Given the description of an element on the screen output the (x, y) to click on. 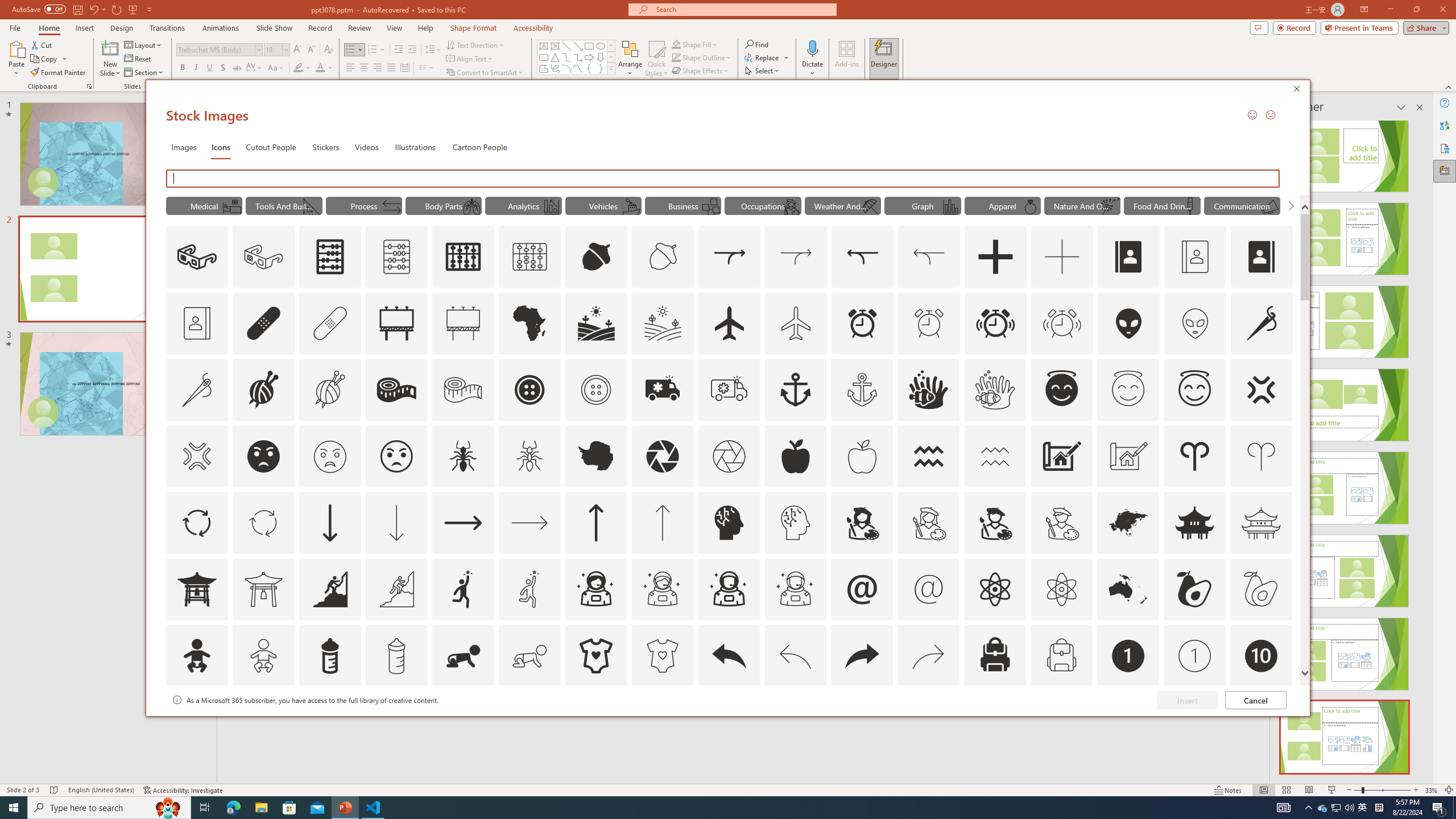
"Food And Drinks" Icons. (1162, 205)
AutomationID: Icons_Lungs_M (471, 206)
AutomationID: Icons_Apple_M (861, 455)
"Business" Icons. (682, 205)
